Given the description of an element on the screen output the (x, y) to click on. 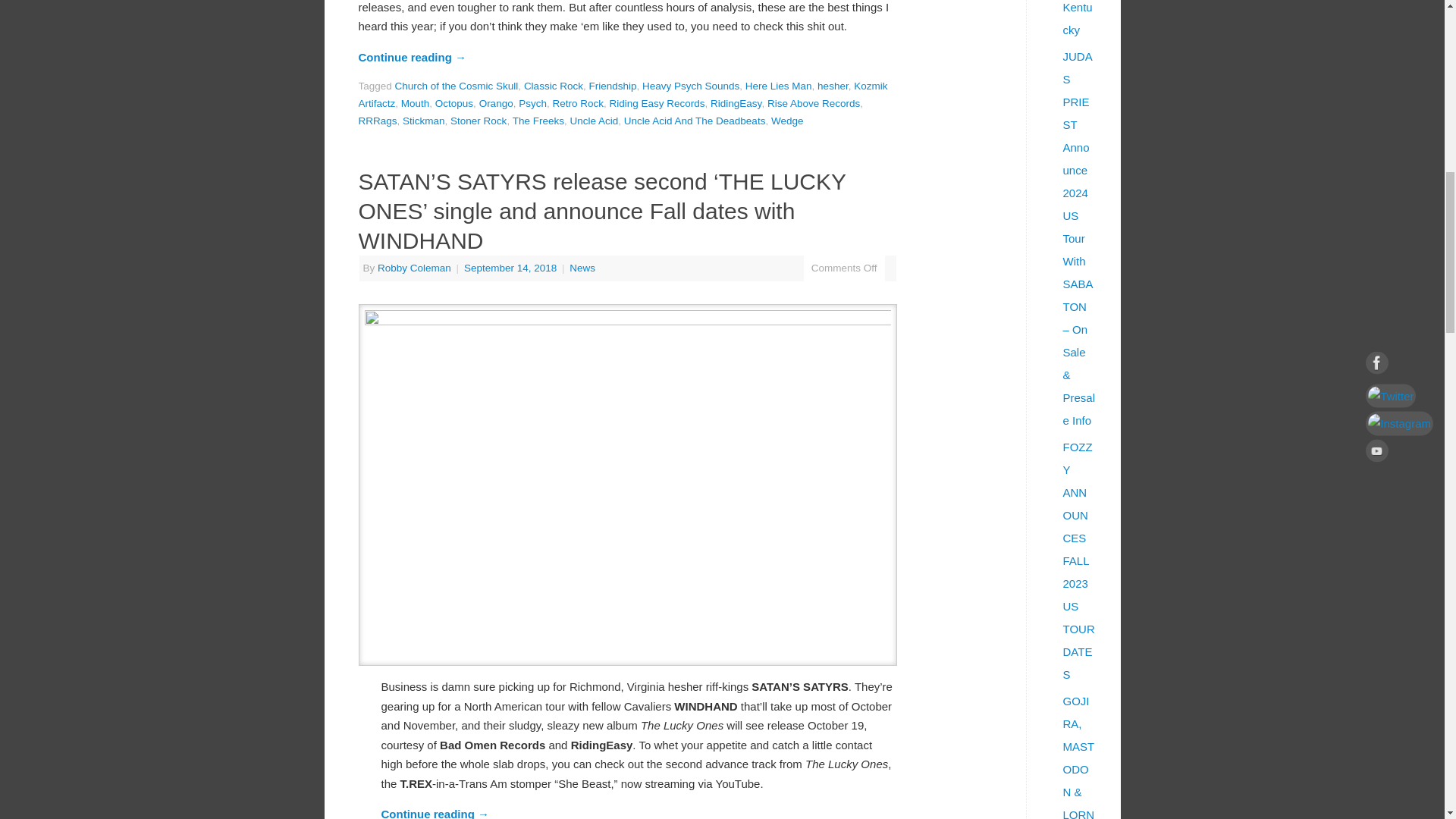
RRRags (377, 120)
Church of the Cosmic Skull (456, 85)
Kozmik Artifactz (622, 94)
Classic Rock (553, 85)
12:09 am (511, 267)
Rise Above Records (813, 102)
Retro Rock (577, 102)
RidingEasy (735, 102)
Heavy Psych Sounds (690, 85)
Psych (532, 102)
